Given the description of an element on the screen output the (x, y) to click on. 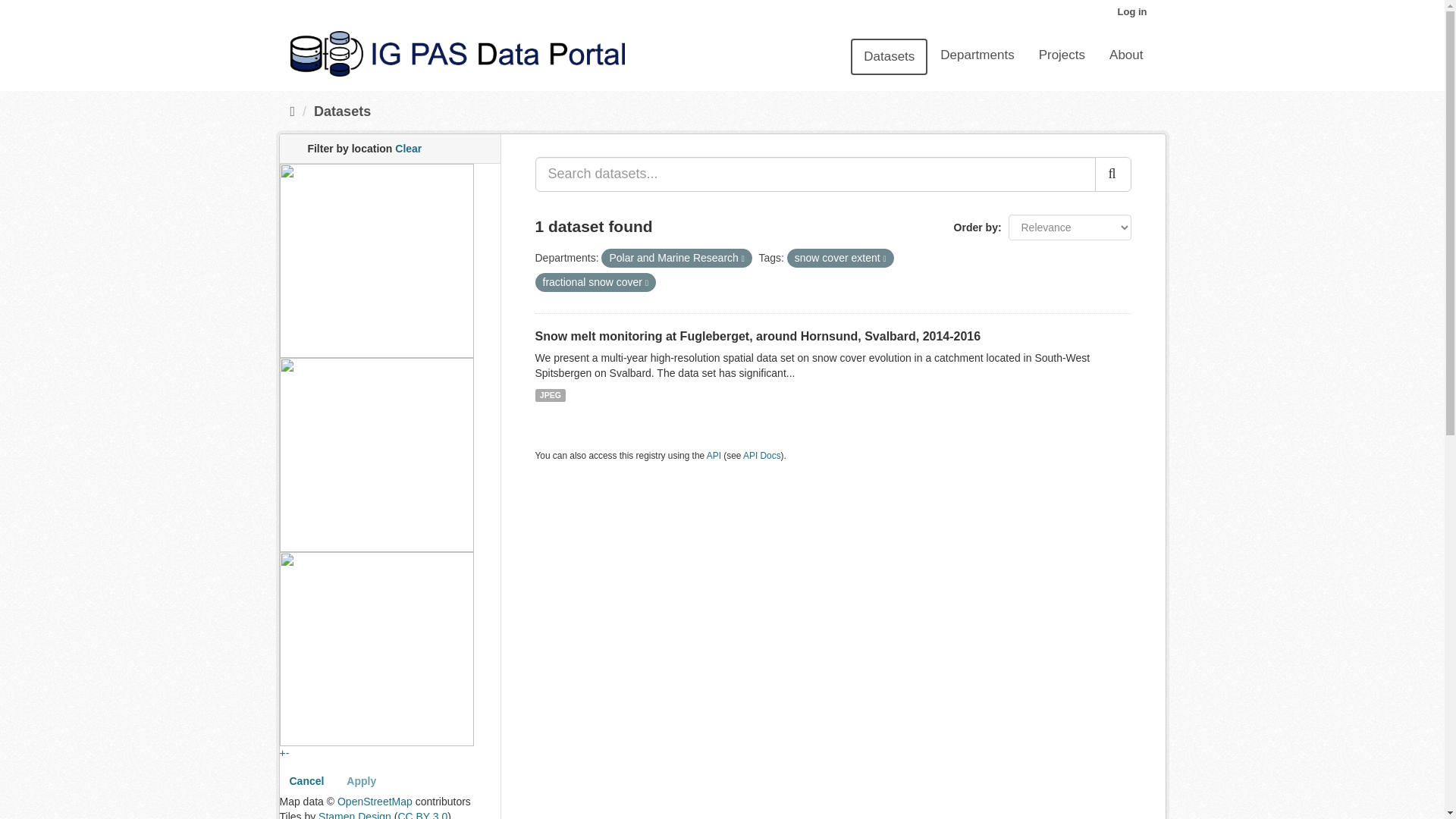
Projects (1061, 55)
Departments (976, 55)
search (1112, 174)
Datasets (342, 111)
CC BY 3.0 (421, 814)
API Docs (761, 455)
Datasets (888, 56)
Clear (408, 148)
Log in (1131, 11)
Zoom out (287, 752)
OpenStreetMap (374, 801)
Apply (360, 781)
Cancel (306, 781)
